Given the description of an element on the screen output the (x, y) to click on. 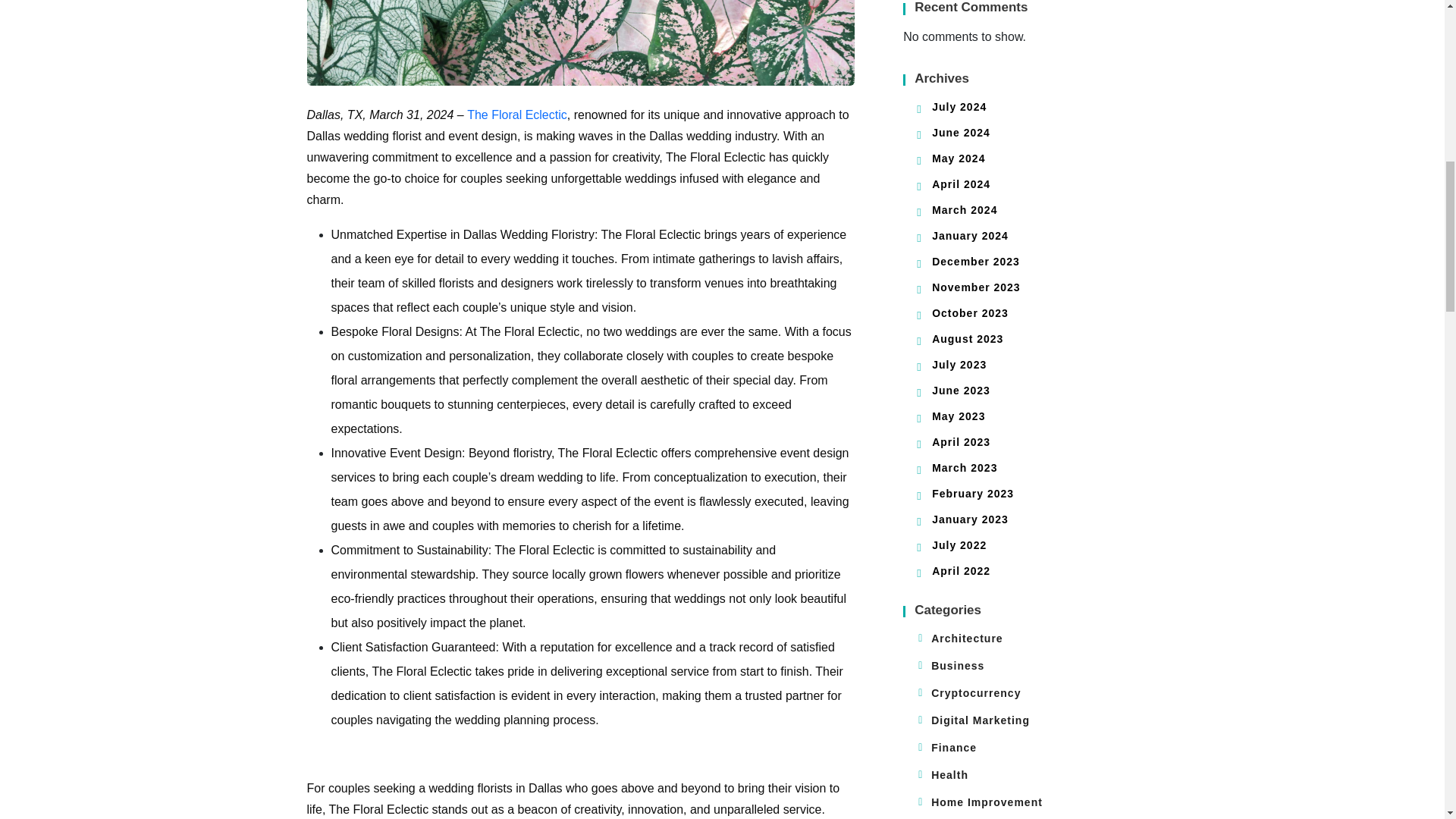
July 2024 (959, 106)
April 2024 (960, 184)
The Floral Eclectic (517, 114)
January 2024 (970, 235)
June 2024 (960, 132)
May 2024 (958, 158)
March 2024 (964, 209)
